Given the description of an element on the screen output the (x, y) to click on. 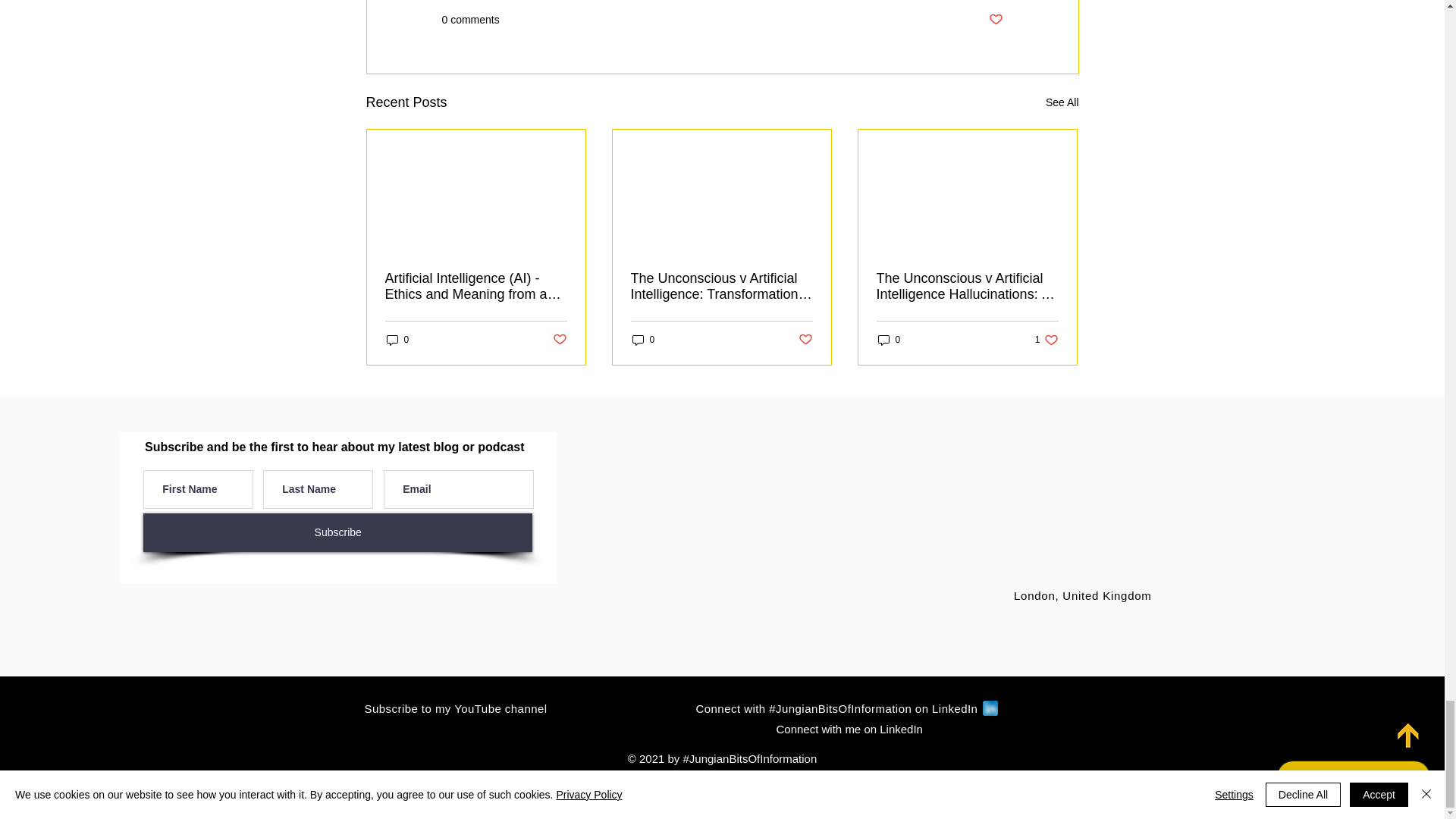
Google Maps (1085, 511)
Post not marked as liked (995, 19)
See All (1061, 102)
